Given the description of an element on the screen output the (x, y) to click on. 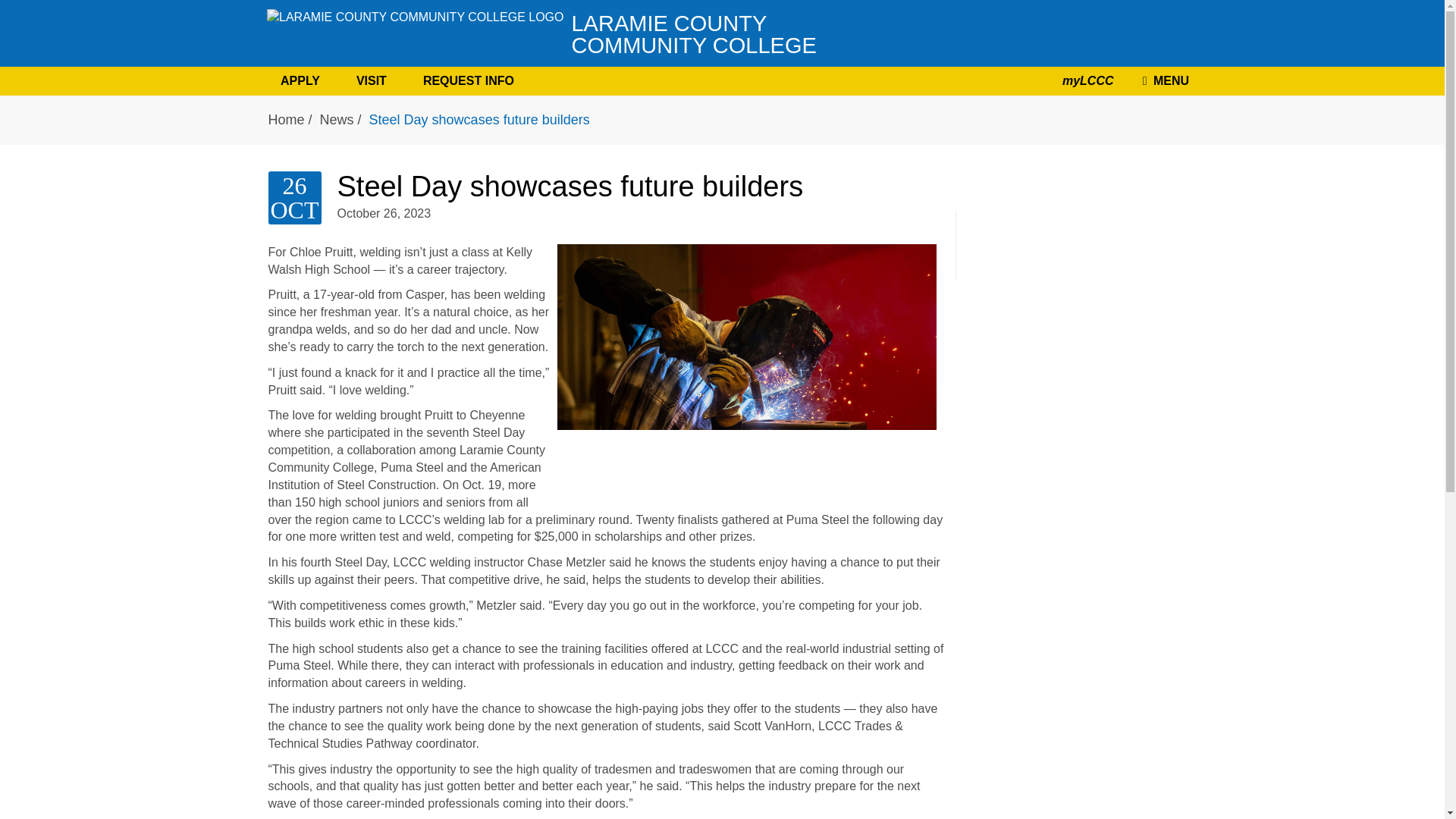
VISIT (1162, 81)
REQUEST INFO (371, 80)
LARAMIE COUNTY COMMUNITY COLLEGE (467, 80)
myLCCC (414, 33)
APPLY (539, 32)
